Given the description of an element on the screen output the (x, y) to click on. 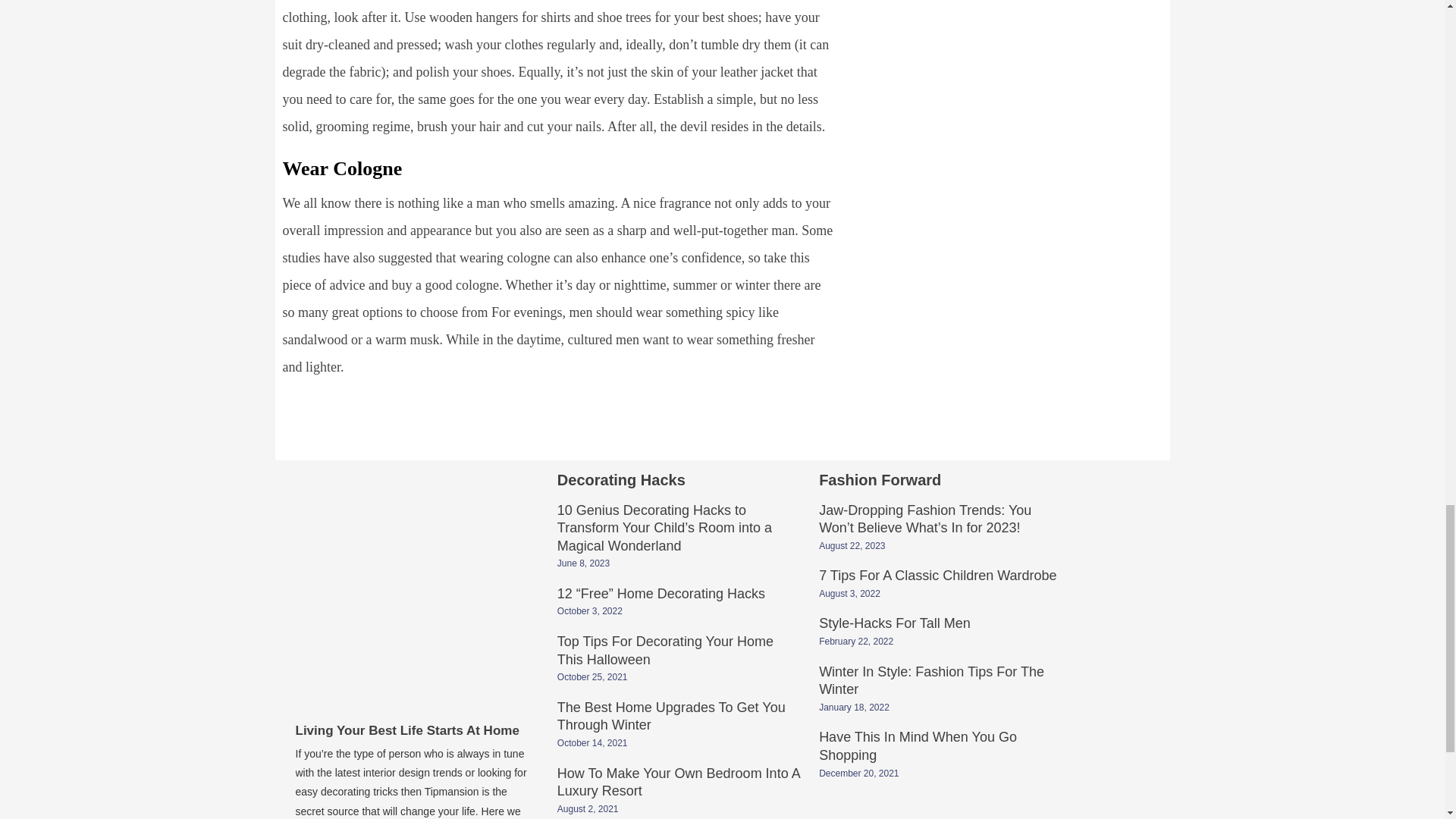
Style-Hacks For Tall Men (894, 624)
Winter In Style: Fashion Tips For The Winter (930, 682)
Top Tips For Decorating Your Home This Halloween (665, 652)
How To Make Your Own Bedroom Into A Luxury Resort (678, 783)
The Best Home Upgrades To Get You Through Winter (671, 717)
Have This In Mind When You Go Shopping (917, 747)
7 Tips For A Classic Children Wardrobe (937, 576)
